Given the description of an element on the screen output the (x, y) to click on. 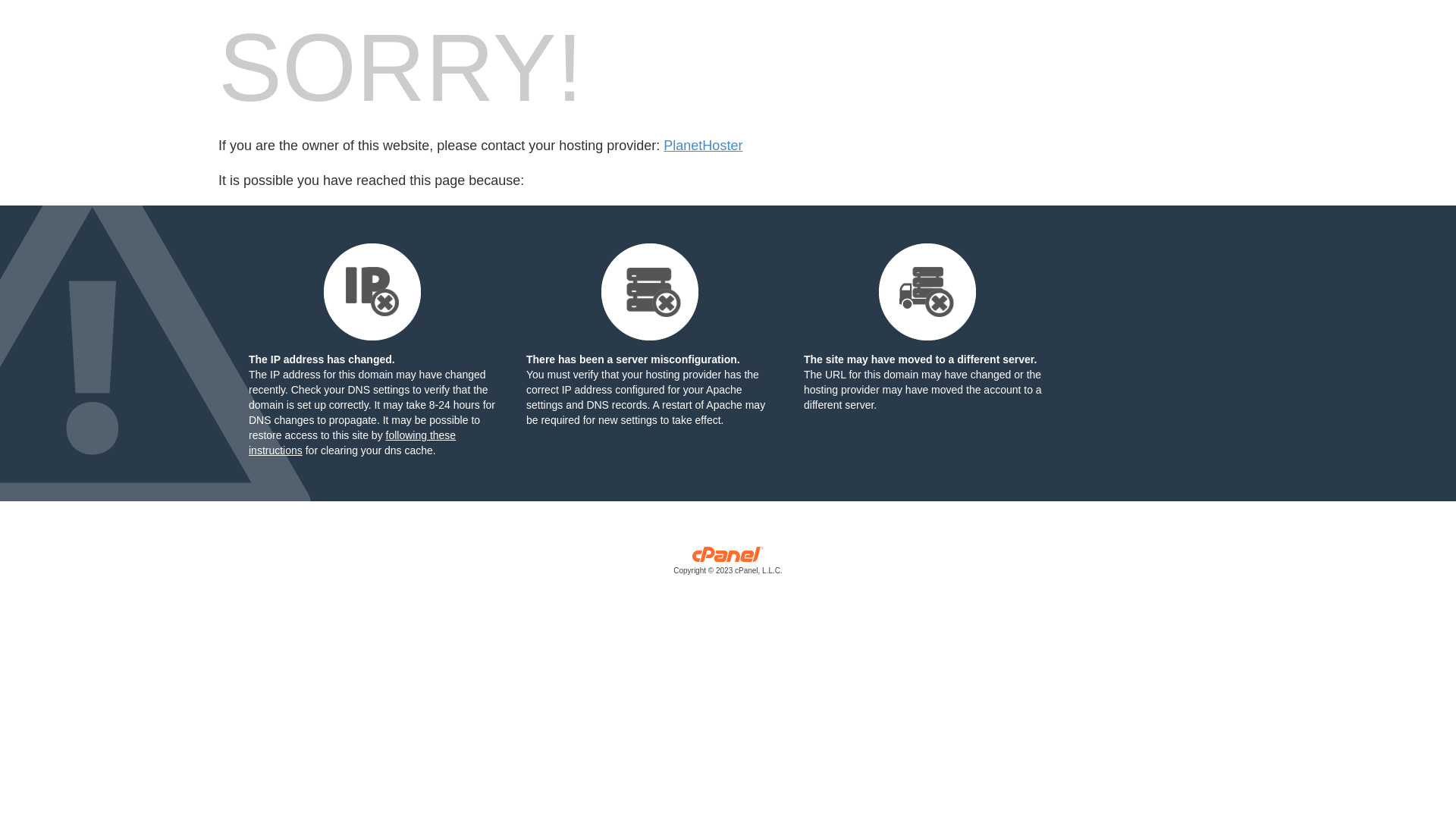
PlanetHoster Element type: text (702, 145)
following these instructions Element type: text (351, 442)
